Given the description of an element on the screen output the (x, y) to click on. 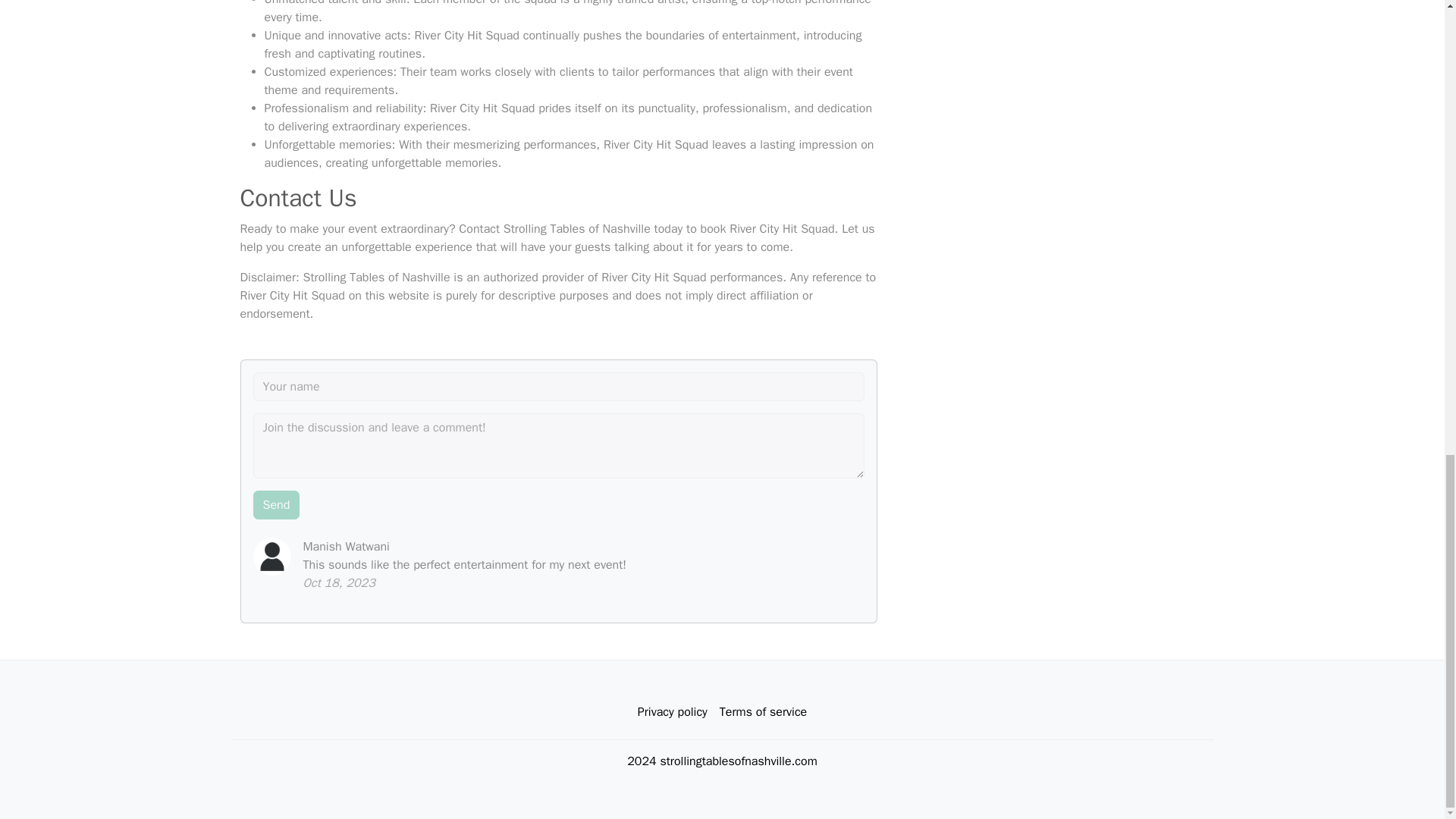
Send (276, 504)
Terms of service (762, 711)
Send (276, 504)
Privacy policy (672, 711)
